Given the description of an element on the screen output the (x, y) to click on. 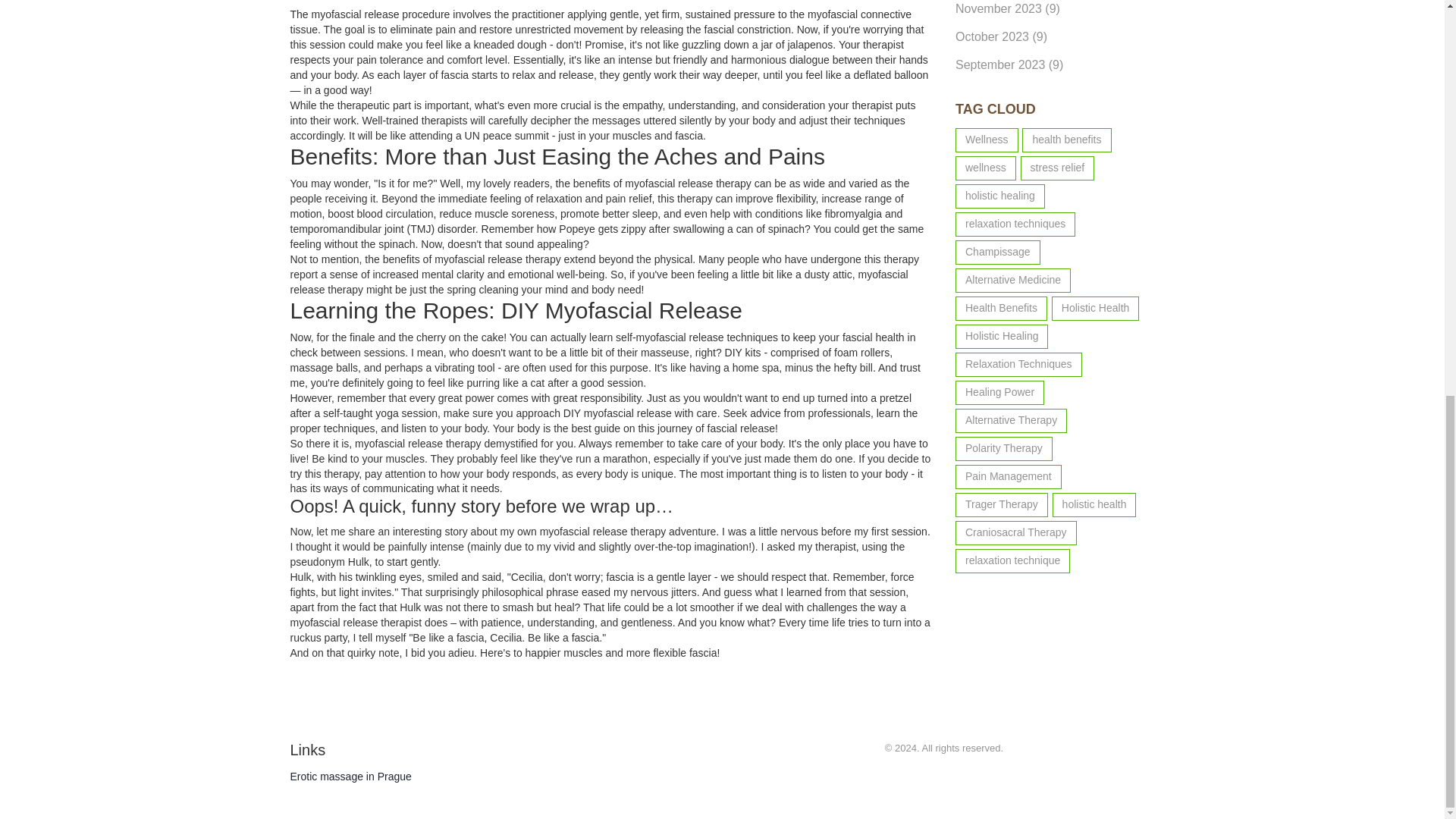
Health Benefits (1000, 308)
Holistic Healing (1001, 336)
stress relief (1057, 168)
relaxation techniques (1015, 224)
wellness (985, 168)
Wellness (986, 139)
holistic healing (1000, 196)
Champissage (998, 252)
Holistic Health (1094, 308)
health benefits (1066, 139)
